Given the description of an element on the screen output the (x, y) to click on. 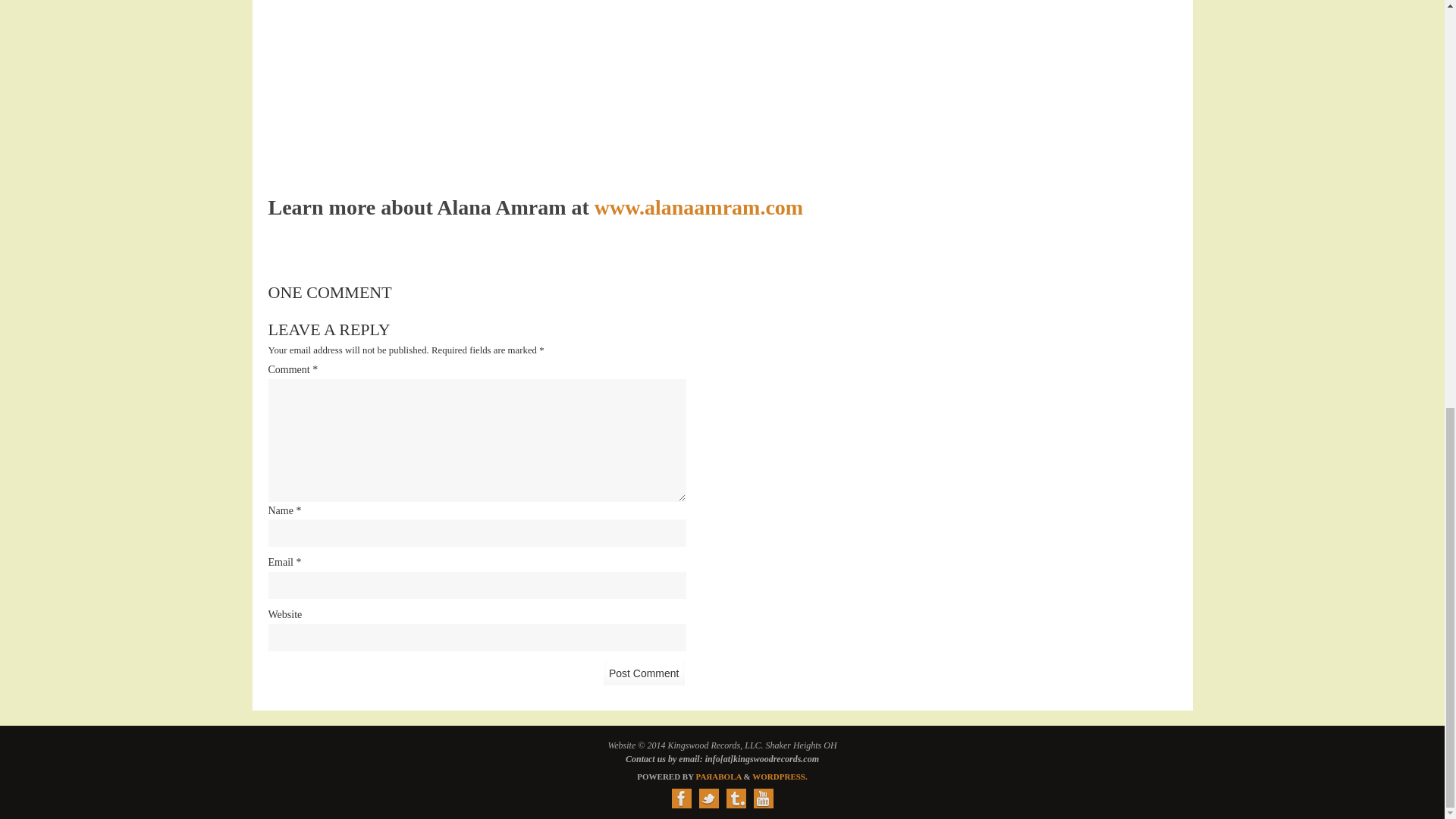
WORDPRESS. (779, 776)
YouTube (763, 798)
www.alanaamram.com (698, 207)
Post Comment (643, 673)
Tumblr (735, 798)
Parabola Theme by Cryout Creations (718, 776)
Facebook (681, 798)
Post Comment (643, 673)
Twitter (708, 798)
Semantic Personal Publishing Platform (779, 776)
